Given the description of an element on the screen output the (x, y) to click on. 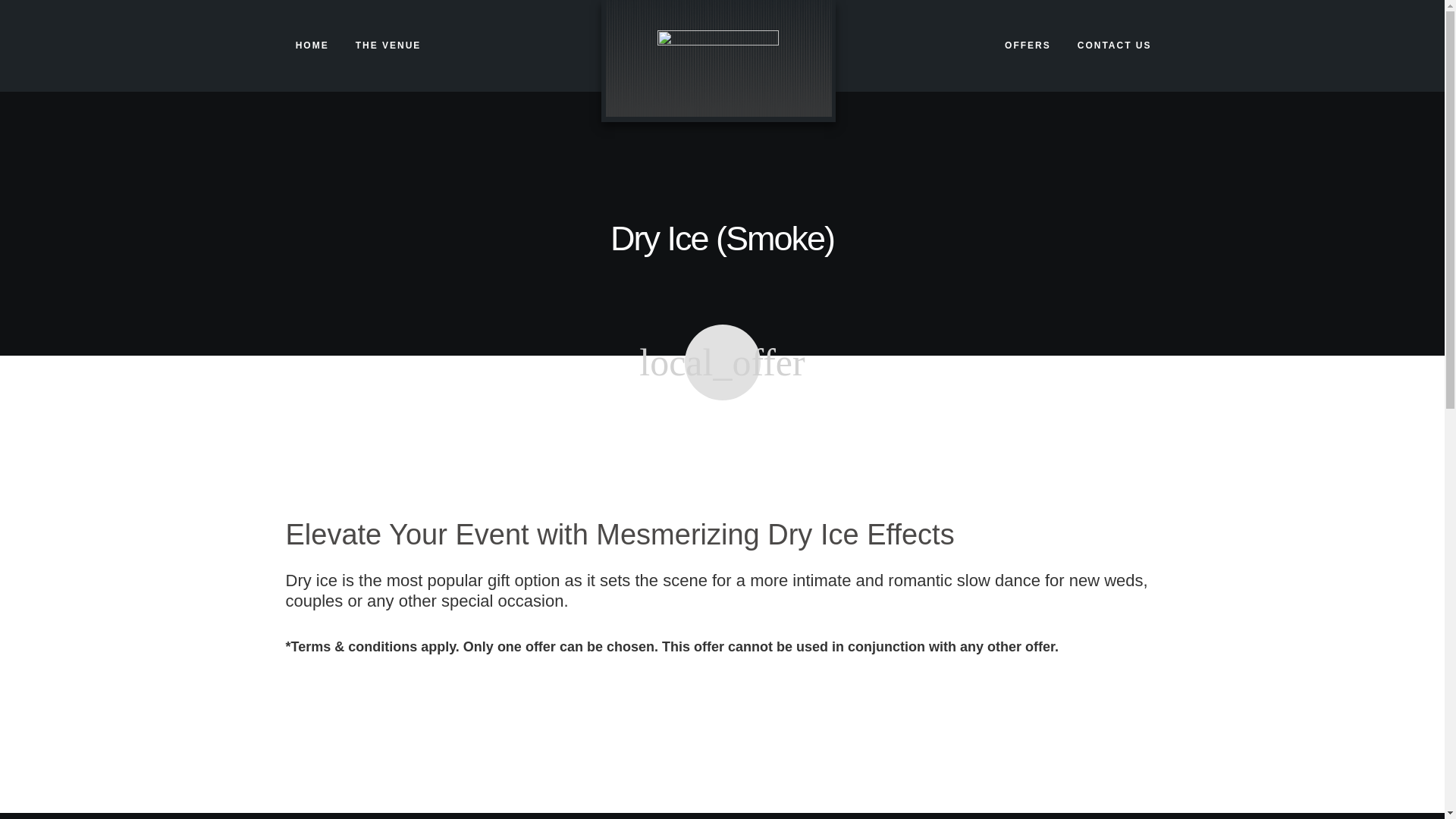
OFFERS (1027, 45)
HOME (312, 45)
CONTACT US (1114, 45)
THE VENUE (388, 45)
